Given the description of an element on the screen output the (x, y) to click on. 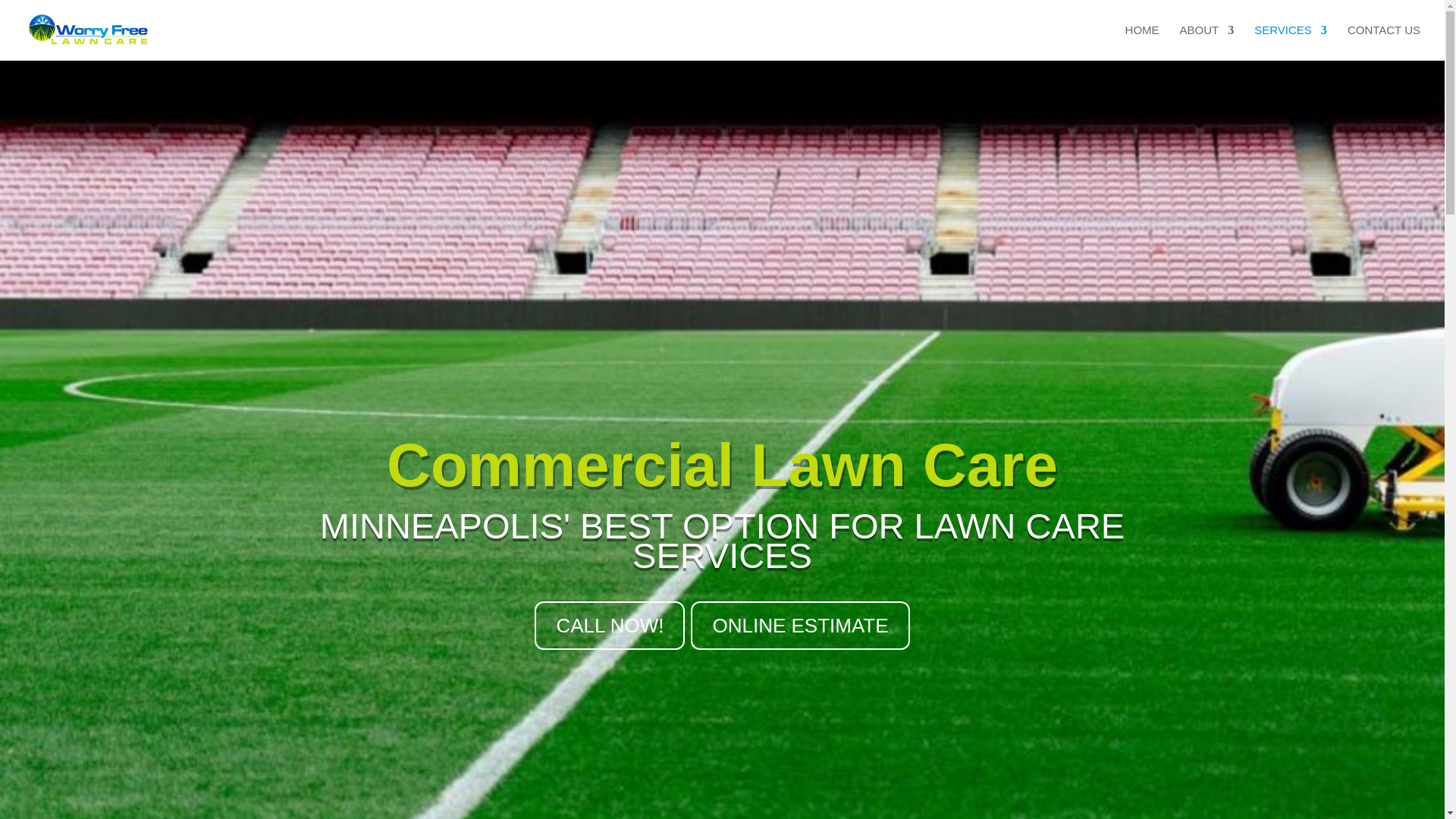
HOME (1141, 42)
SERVICES (1289, 42)
CALL NOW! (609, 625)
ABOUT (1206, 42)
CONTACT US (1384, 42)
ONLINE ESTIMATE (799, 625)
